Given the description of an element on the screen output the (x, y) to click on. 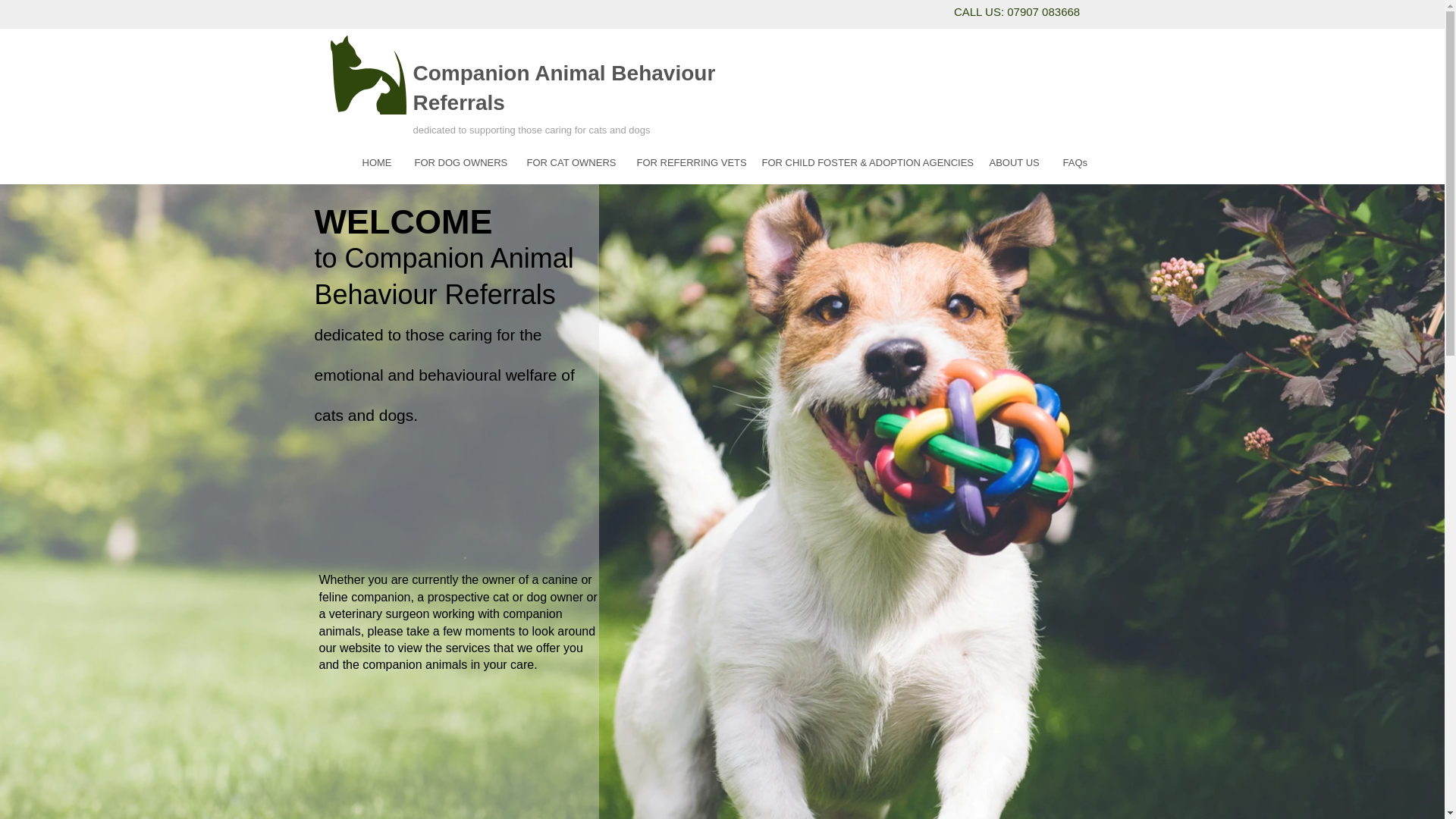
FOR REFERRING VETS (686, 162)
FOR DOG OWNERS (459, 162)
dedicated to supporting those caring for cats and dogs (530, 126)
FOR CAT OWNERS (570, 162)
Companion Animal Behaviour Referrals (563, 87)
